Given the description of an element on the screen output the (x, y) to click on. 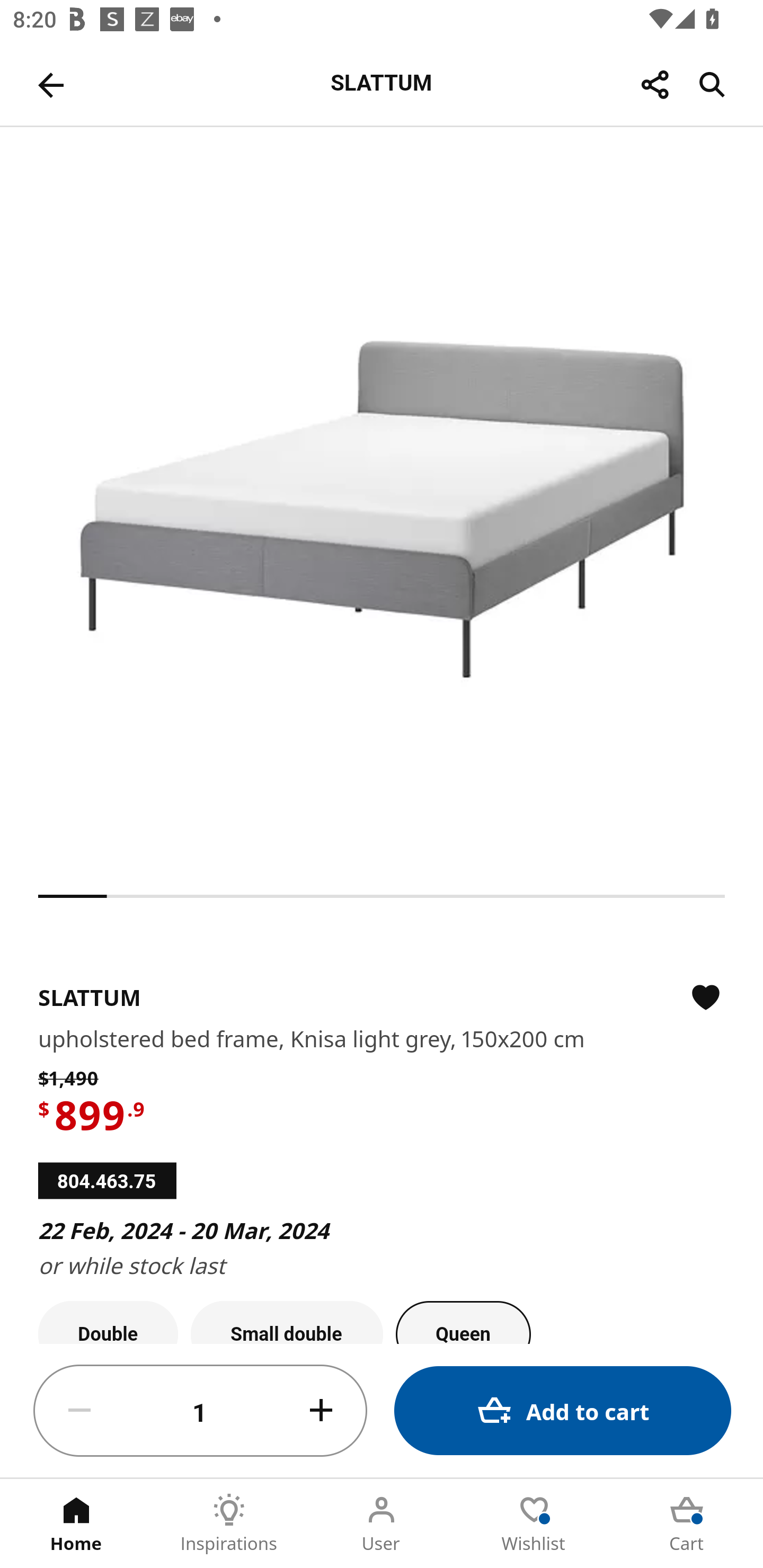
Double (107, 1322)
Small double (286, 1322)
Queen (463, 1322)
Add to cart (562, 1410)
1 (200, 1411)
Home
Tab 1 of 5 (76, 1522)
Inspirations
Tab 2 of 5 (228, 1522)
User
Tab 3 of 5 (381, 1522)
Wishlist
Tab 4 of 5 (533, 1522)
Cart
Tab 5 of 5 (686, 1522)
